Given the description of an element on the screen output the (x, y) to click on. 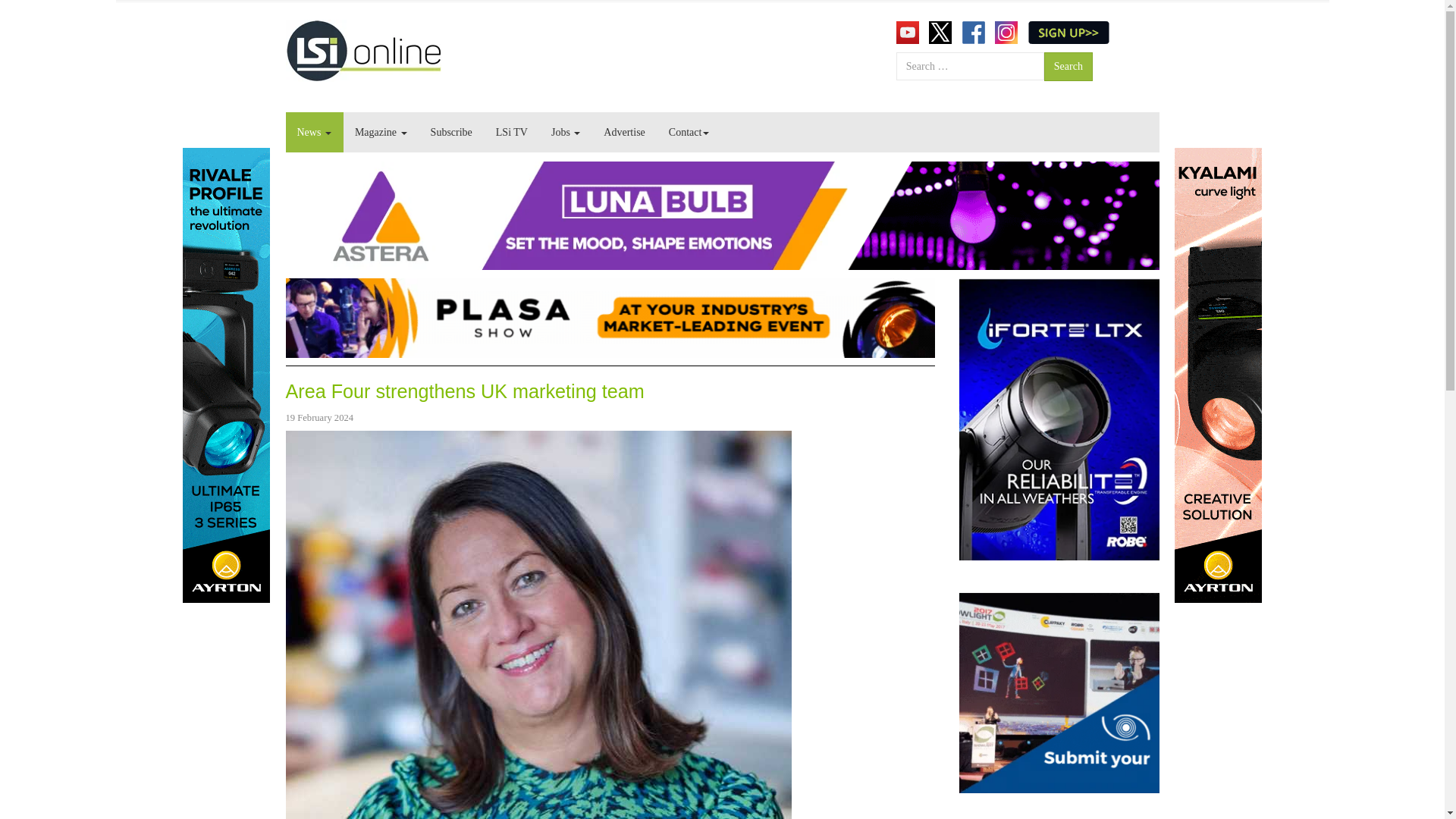
PLASA London - Banner - July 2024 (609, 317)
Showlight - MPU - June-July 2024 (1058, 692)
News (313, 132)
Astera - Leaderboard - July 2024 (721, 214)
Ayrton - Skyscraper RIGHT - July24 (1216, 374)
Ayrton - Skyscraper LEFT - July24 (225, 374)
Robe - Large MPU (1058, 419)
LSi Online (363, 50)
Search (1068, 66)
Published:  (319, 417)
Area Four strengthens UK marketing team (464, 391)
